Given the description of an element on the screen output the (x, y) to click on. 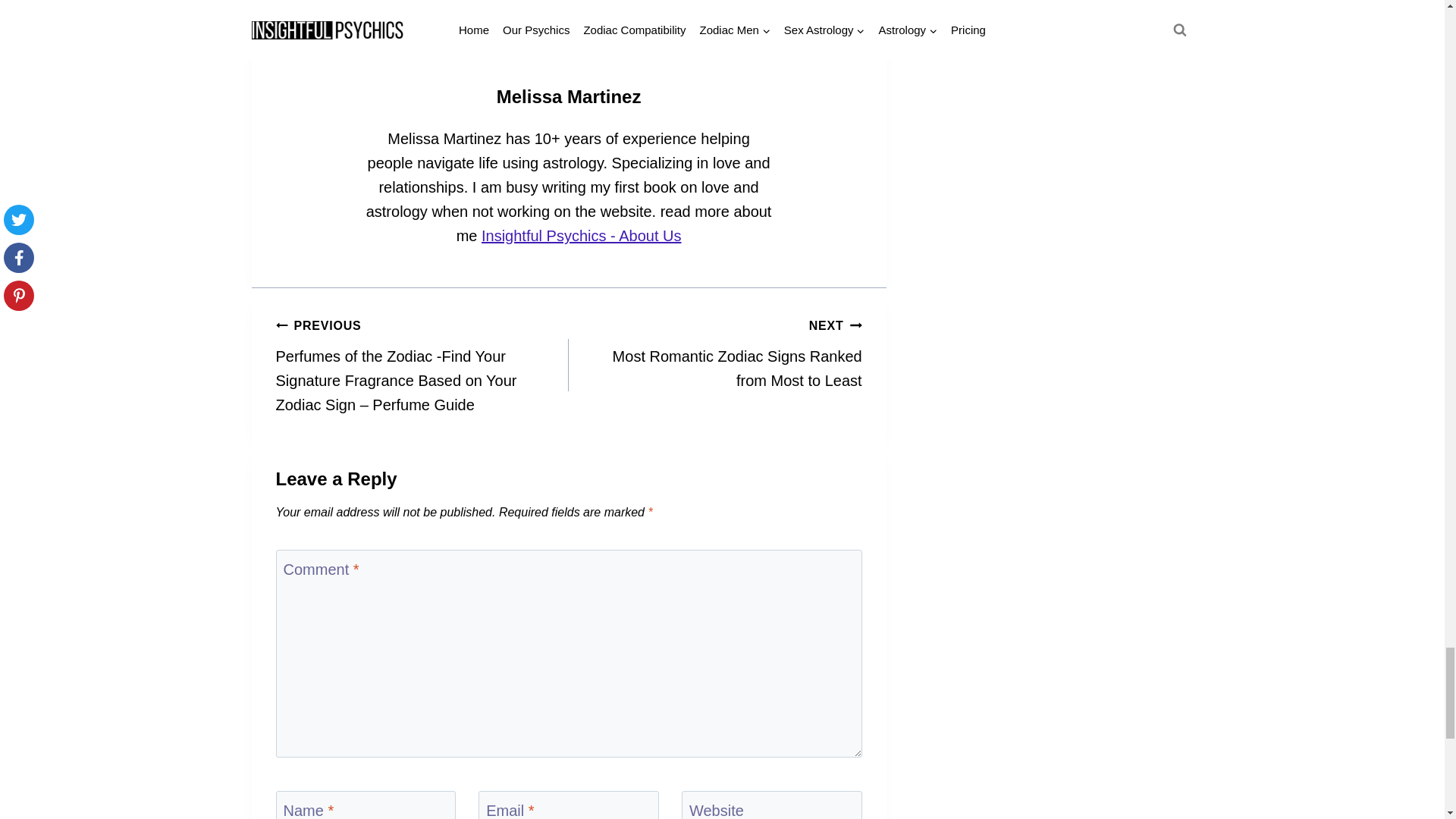
Posts by Melissa Martinez (569, 96)
